Given the description of an element on the screen output the (x, y) to click on. 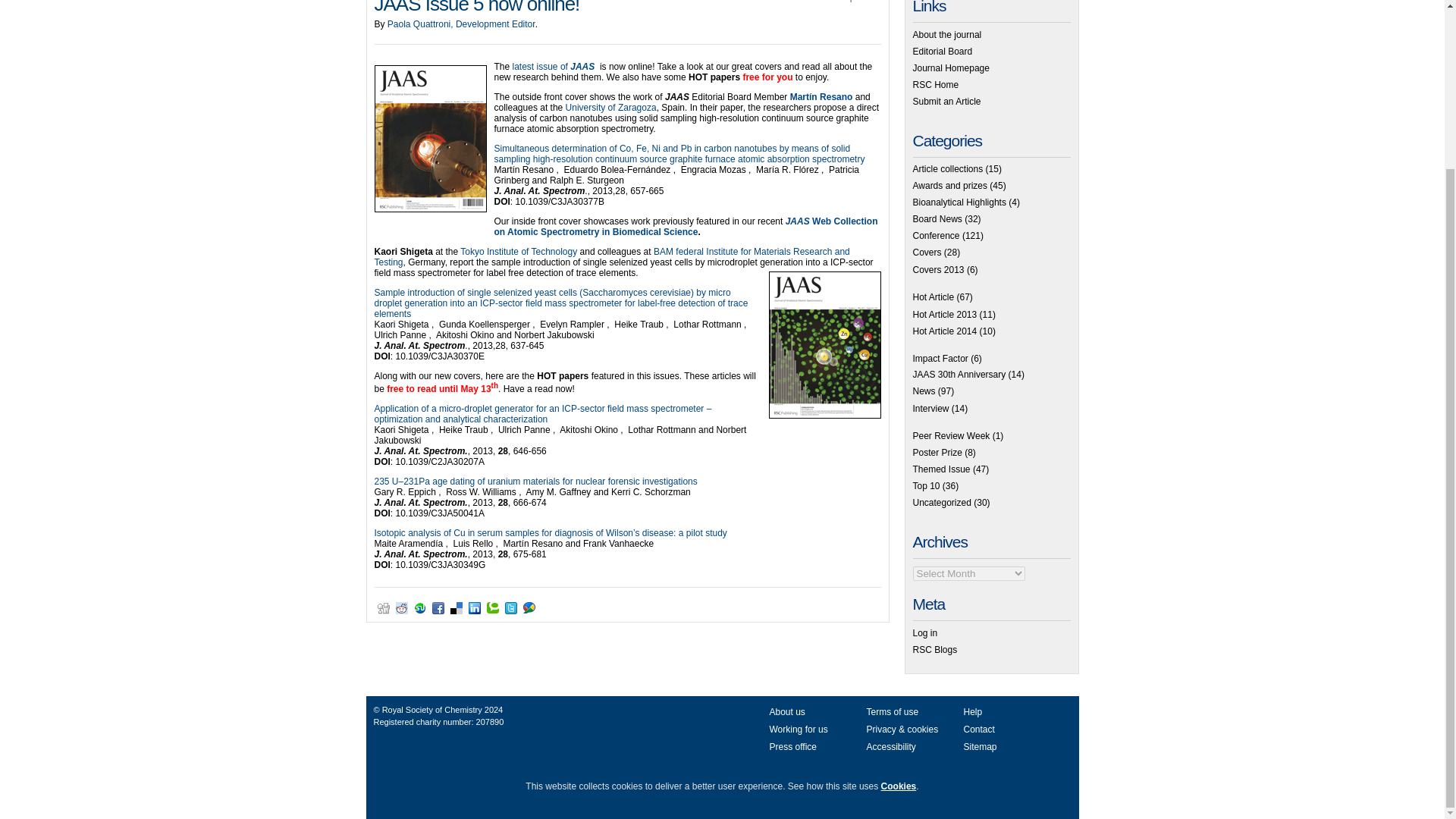
JAAS (799, 221)
Journal Homepage (951, 68)
RSC Home (935, 84)
BAM federal Institute for Materials Research and Testing (612, 256)
Bookmark this on Technorati (492, 607)
About the journal (946, 34)
Post on Twitter (510, 607)
Paola Quattroni, Development Editor (461, 23)
Digg This (383, 607)
RSC Home Page (935, 84)
Share on Facebook (438, 607)
latest issue of JAAS  (555, 66)
Bookmark this on Delicious (456, 607)
Posts by Paola Quattroni, Development Editor (461, 23)
